Given the description of an element on the screen output the (x, y) to click on. 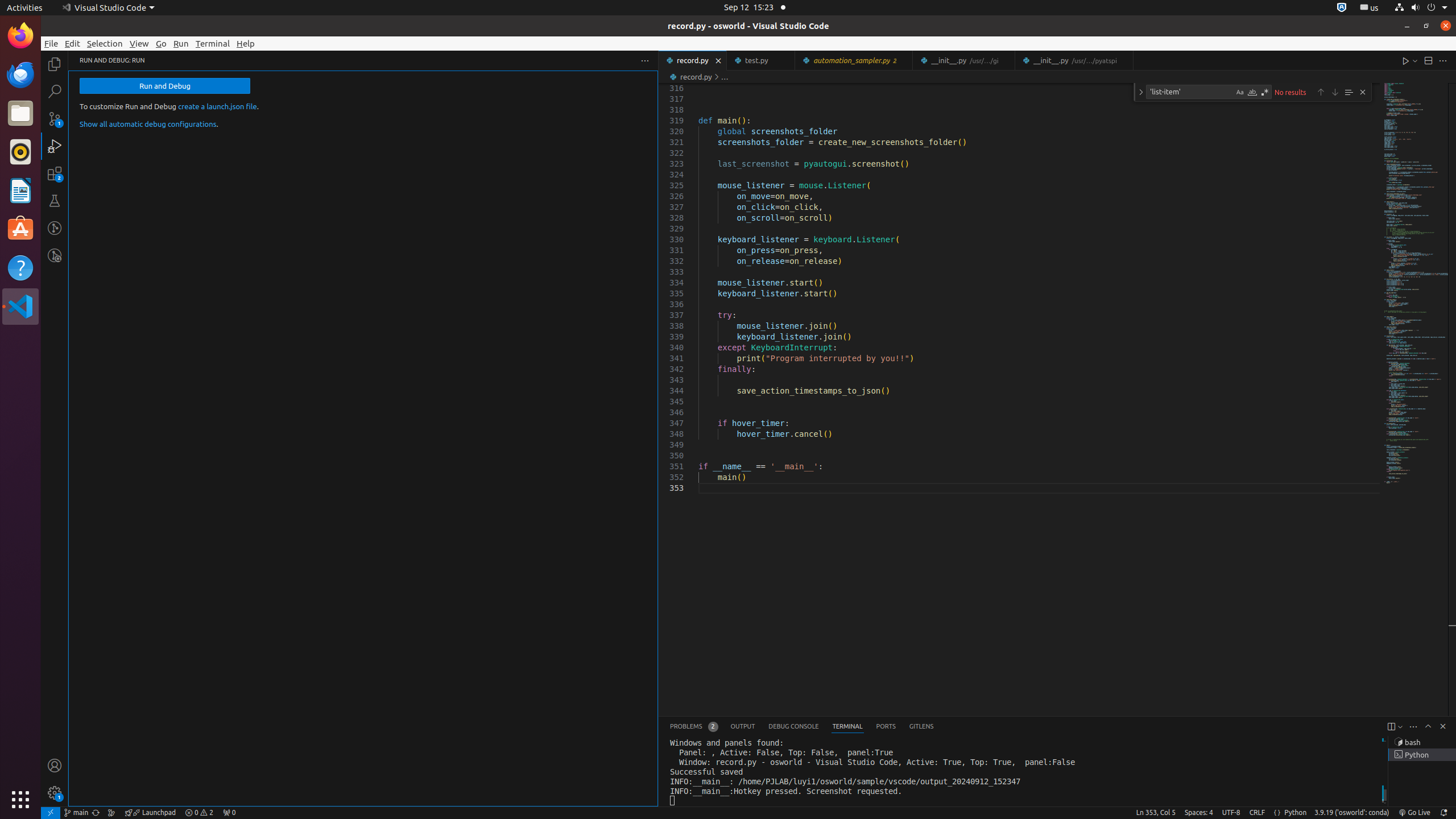
Firefox Web Browser Element type: push-button (20, 35)
Run and Debug (Ctrl+Shift+D) Element type: page-tab (54, 145)
Previous Match (Shift+Enter) Element type: push-button (1320, 91)
Close (Escape) Element type: push-button (1362, 91)
Accounts Element type: push-button (54, 765)
